Given the description of an element on the screen output the (x, y) to click on. 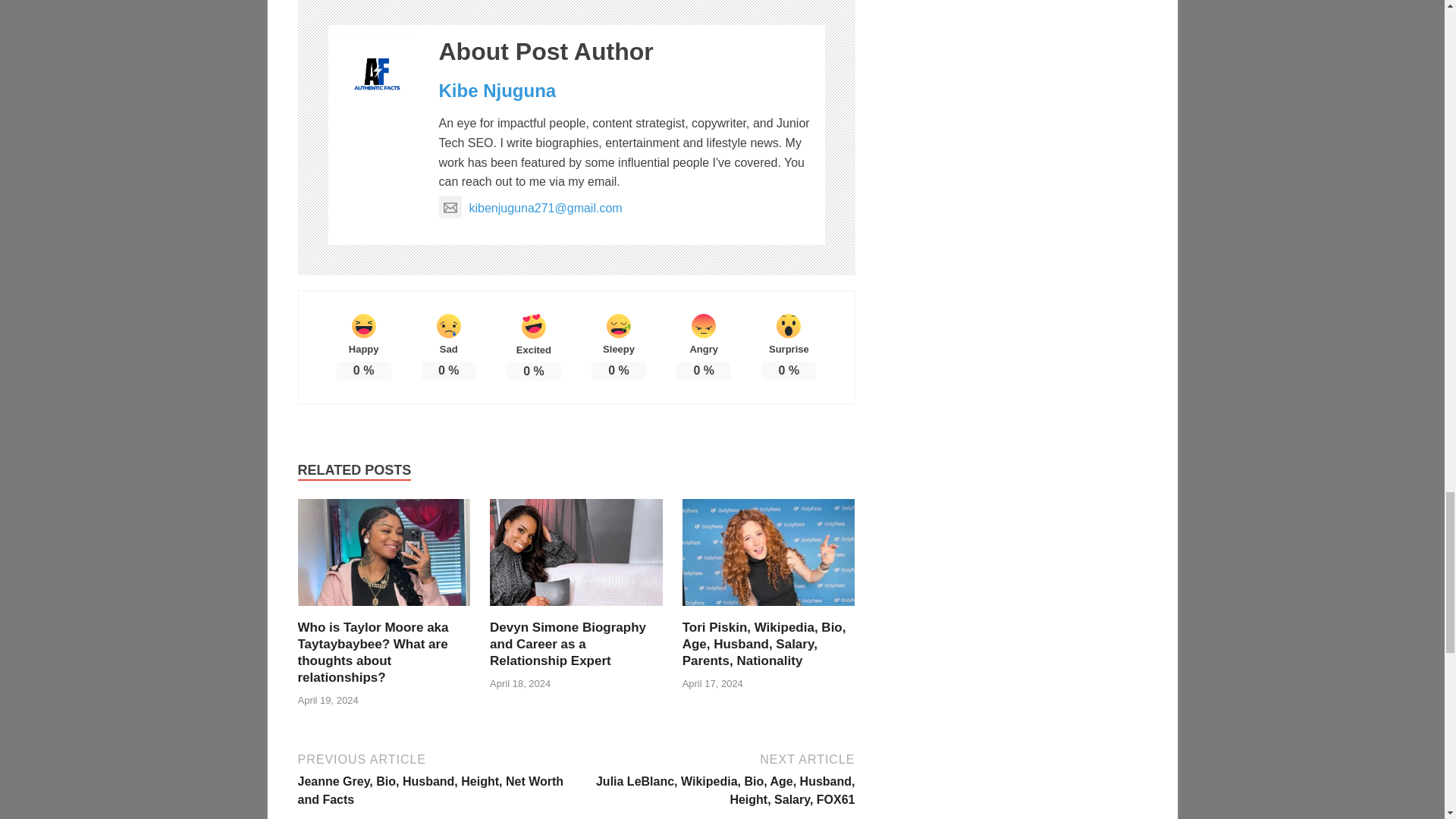
Devyn Simone Biography and Career as a Relationship Expert (575, 609)
Devyn Simone Biography and Career as a Relationship Expert (567, 643)
Kibe Njuguna (497, 90)
Devyn Simone Biography and Career as a Relationship Expert (567, 643)
